Given the description of an element on the screen output the (x, y) to click on. 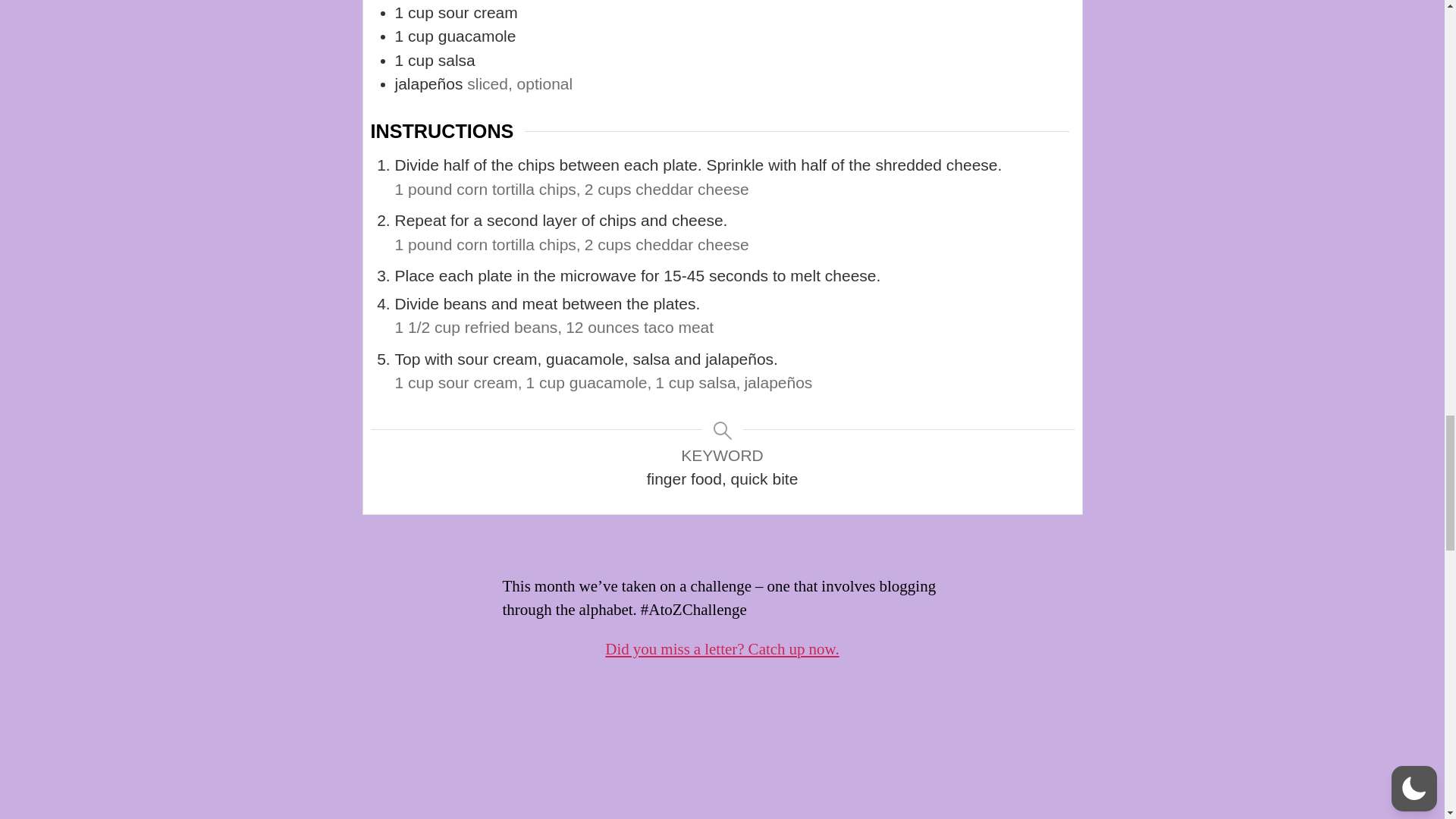
A-to-Z-April-Challenge-zebra-002 (722, 739)
Did you miss a letter? Catch up now. (721, 649)
